Given the description of an element on the screen output the (x, y) to click on. 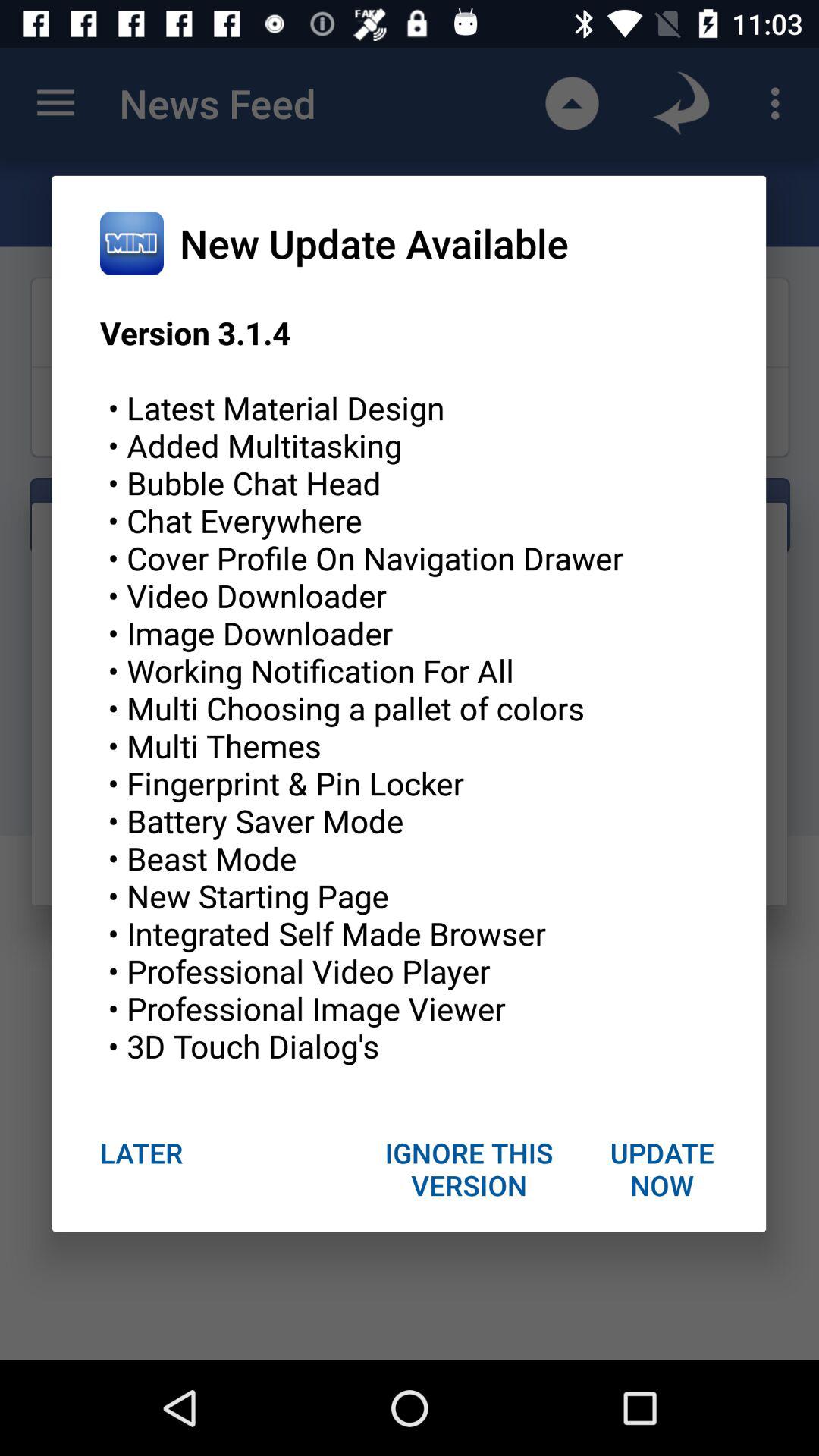
choose the icon to the left of update
now item (469, 1168)
